Given the description of an element on the screen output the (x, y) to click on. 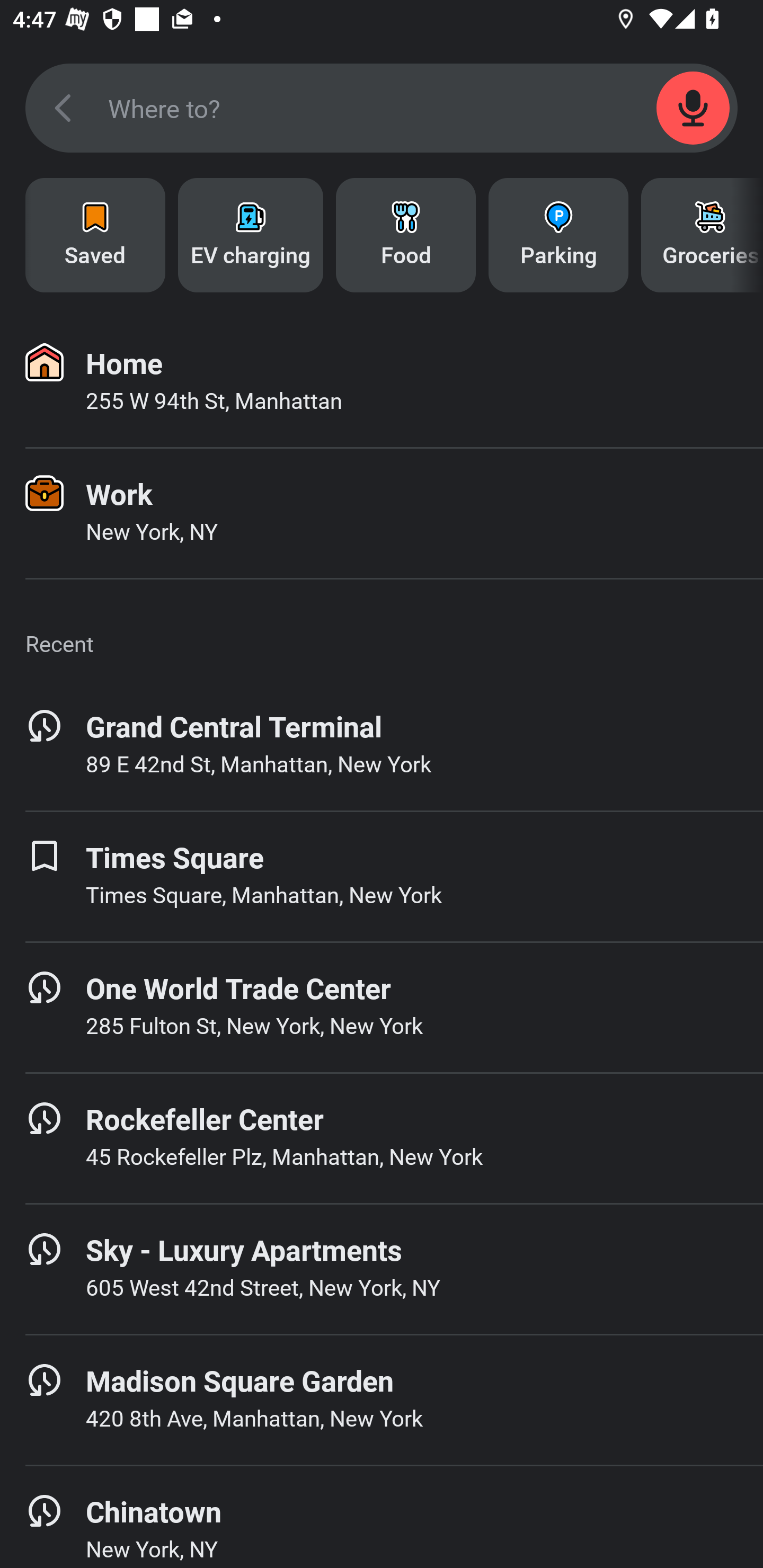
SEARCH_SCREEN_SEARCH_FIELD Where to? (381, 108)
Saved (95, 234)
EV charging (250, 234)
Food (405, 234)
Parking (558, 234)
Groceries (701, 234)
Home 255 W 94th St, Manhattan (381, 382)
Work New York, NY (381, 513)
Times Square Times Square, Manhattan, New York (381, 876)
Chinatown New York, NY (381, 1517)
